Given the description of an element on the screen output the (x, y) to click on. 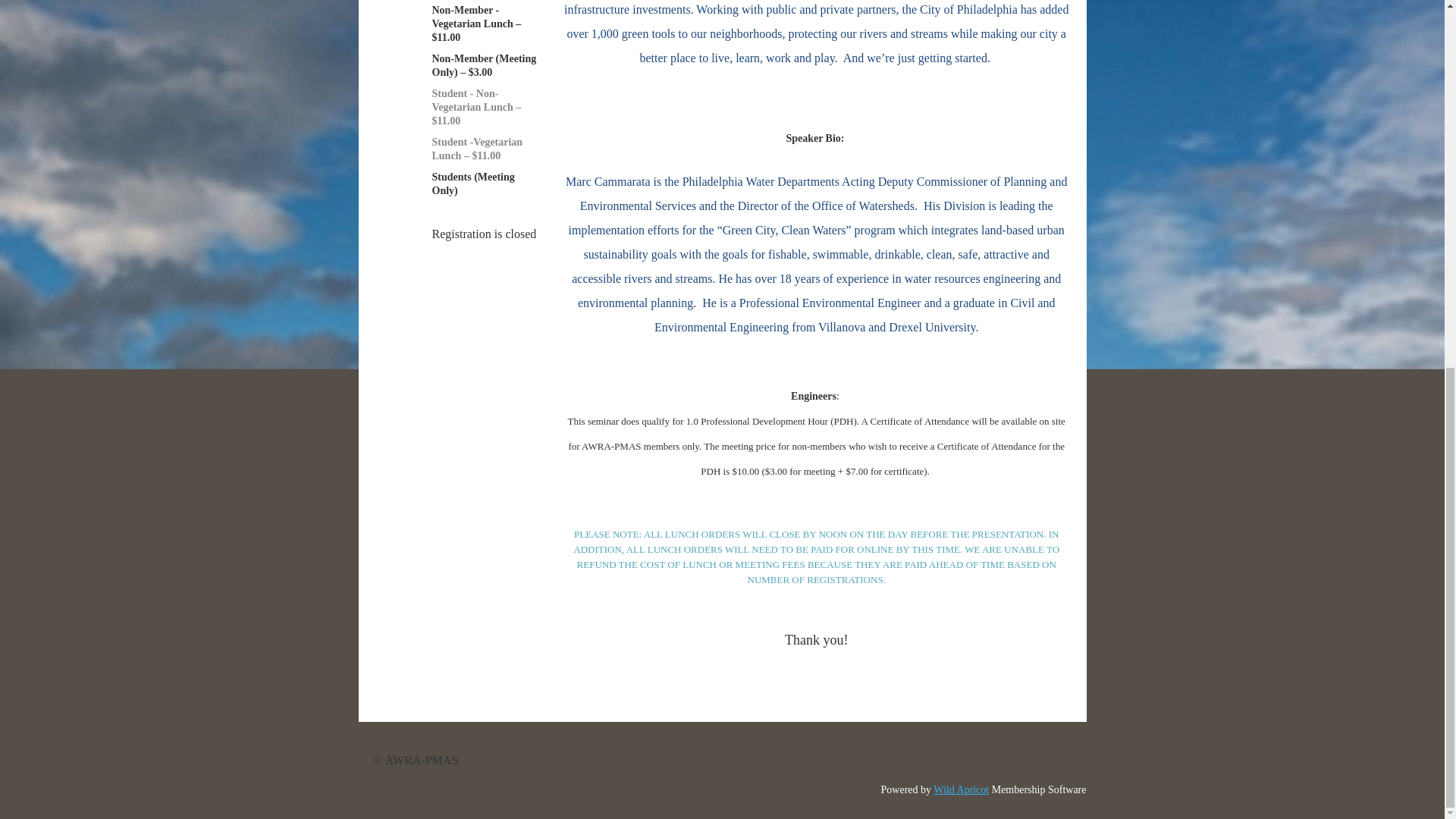
Wild Apricot (960, 788)
